Given the description of an element on the screen output the (x, y) to click on. 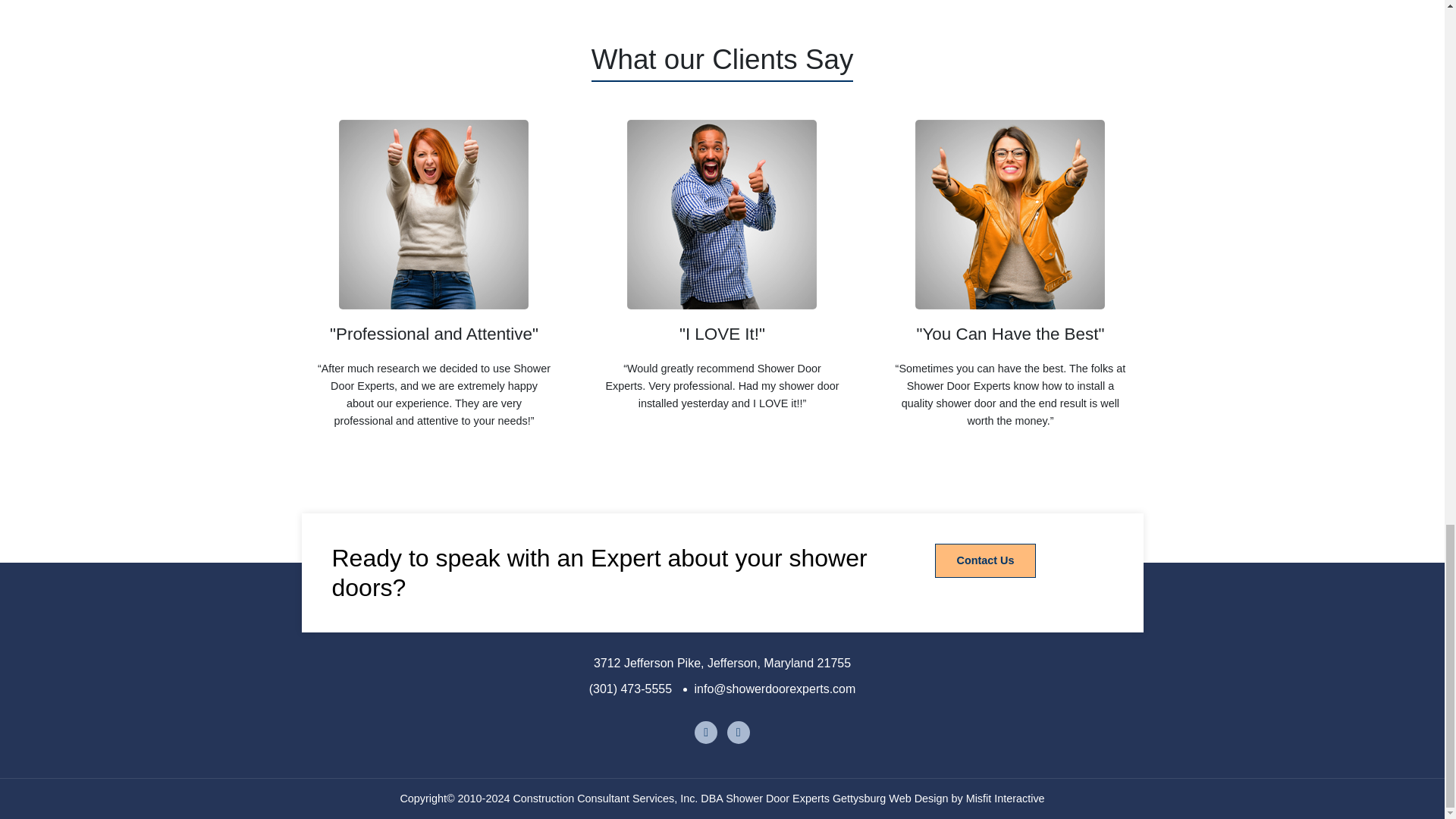
Gettysburg Web Design (1005, 798)
Gettysburg Web Design (890, 798)
